Given the description of an element on the screen output the (x, y) to click on. 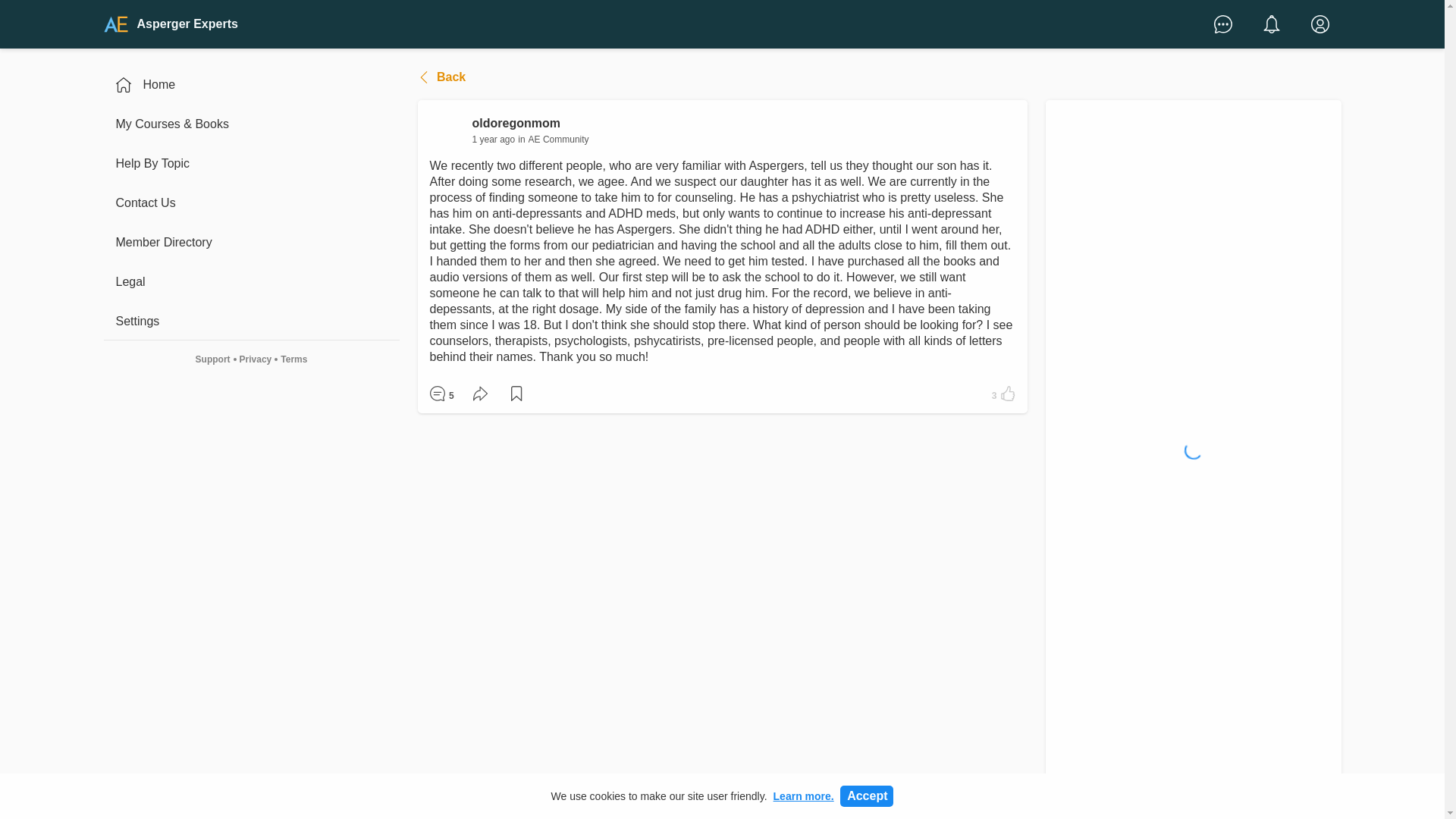
Legal (250, 281)
oldoregonmom (447, 130)
AE Community (558, 139)
Accept (866, 795)
Back (443, 76)
Home (250, 84)
Settings (250, 321)
Member Directory (250, 242)
oldoregonmom (529, 123)
Contact Us (250, 203)
3 (1002, 393)
Terms (294, 359)
Support (212, 359)
Help By Topic (250, 163)
Privacy (255, 359)
